Given the description of an element on the screen output the (x, y) to click on. 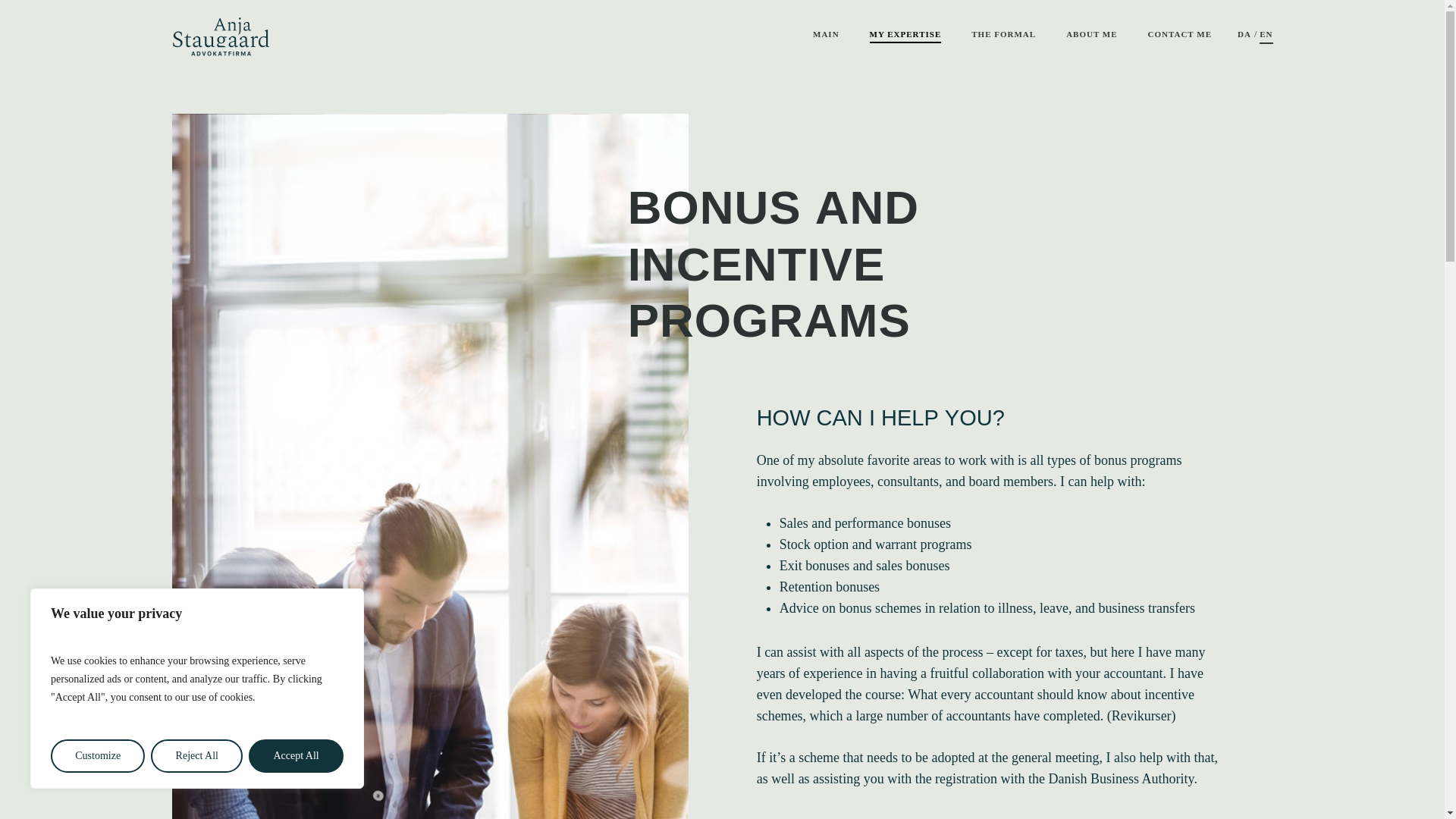
DA (1243, 34)
CONTACT ME (1179, 34)
Reject All (197, 756)
Customize (97, 756)
THE FORMAL (1003, 34)
Accept All (295, 756)
ABOUT ME (1090, 34)
MAIN (826, 34)
EN (1265, 34)
MY EXPERTISE (905, 34)
